Given the description of an element on the screen output the (x, y) to click on. 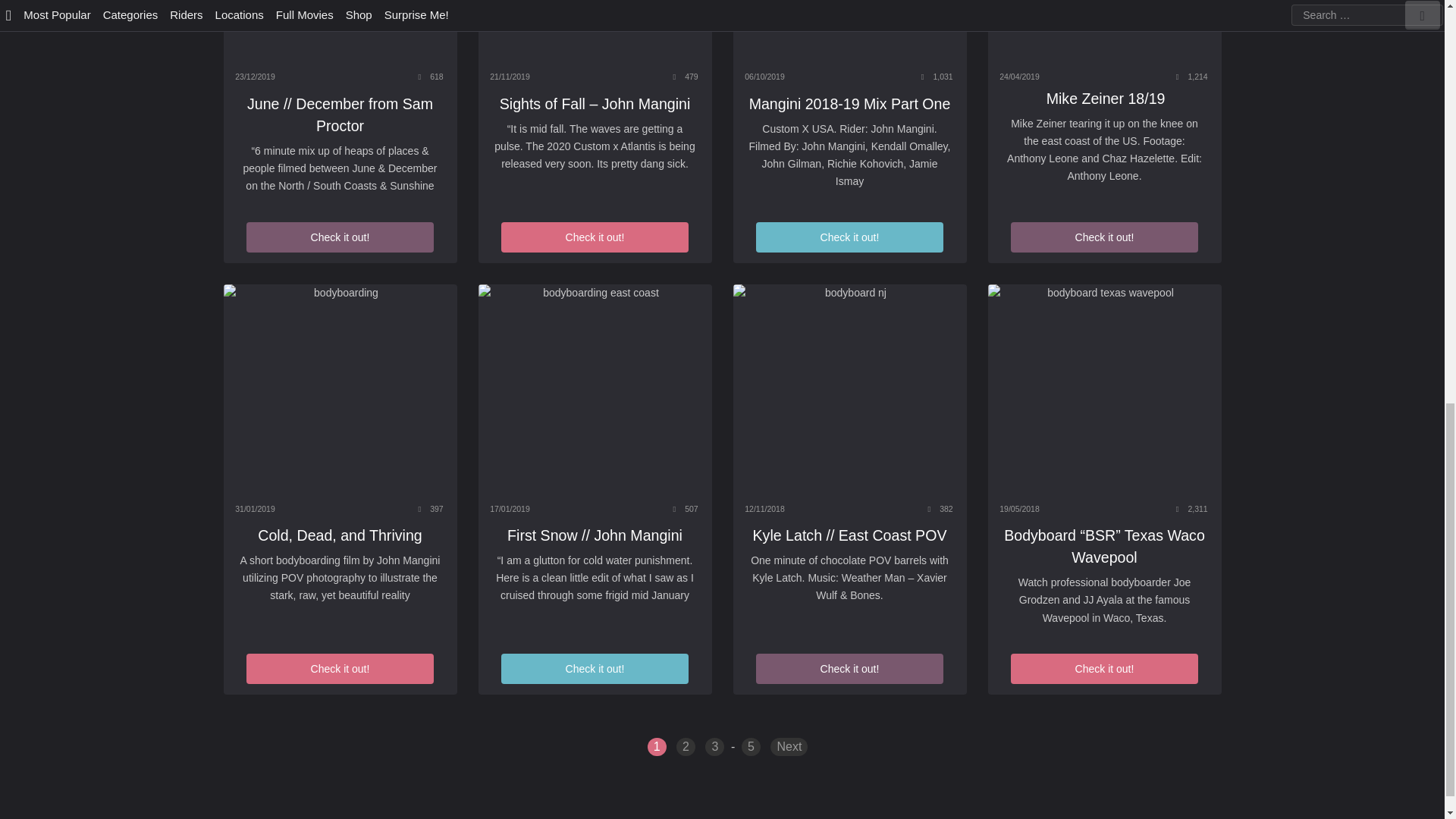
Check it out! (593, 236)
Sights of Fall - John Mangini (594, 31)
Bodyboard "BSR" Texas Waco Wavepool (1104, 389)
Check it out! (339, 236)
Check it out! (848, 236)
Cold, Dead, and Thriving (339, 389)
Check it out! (1103, 236)
Mangini 2018-19 Mix Part One (849, 31)
Mangini 2018-19 Mix Part One (849, 104)
